Given the description of an element on the screen output the (x, y) to click on. 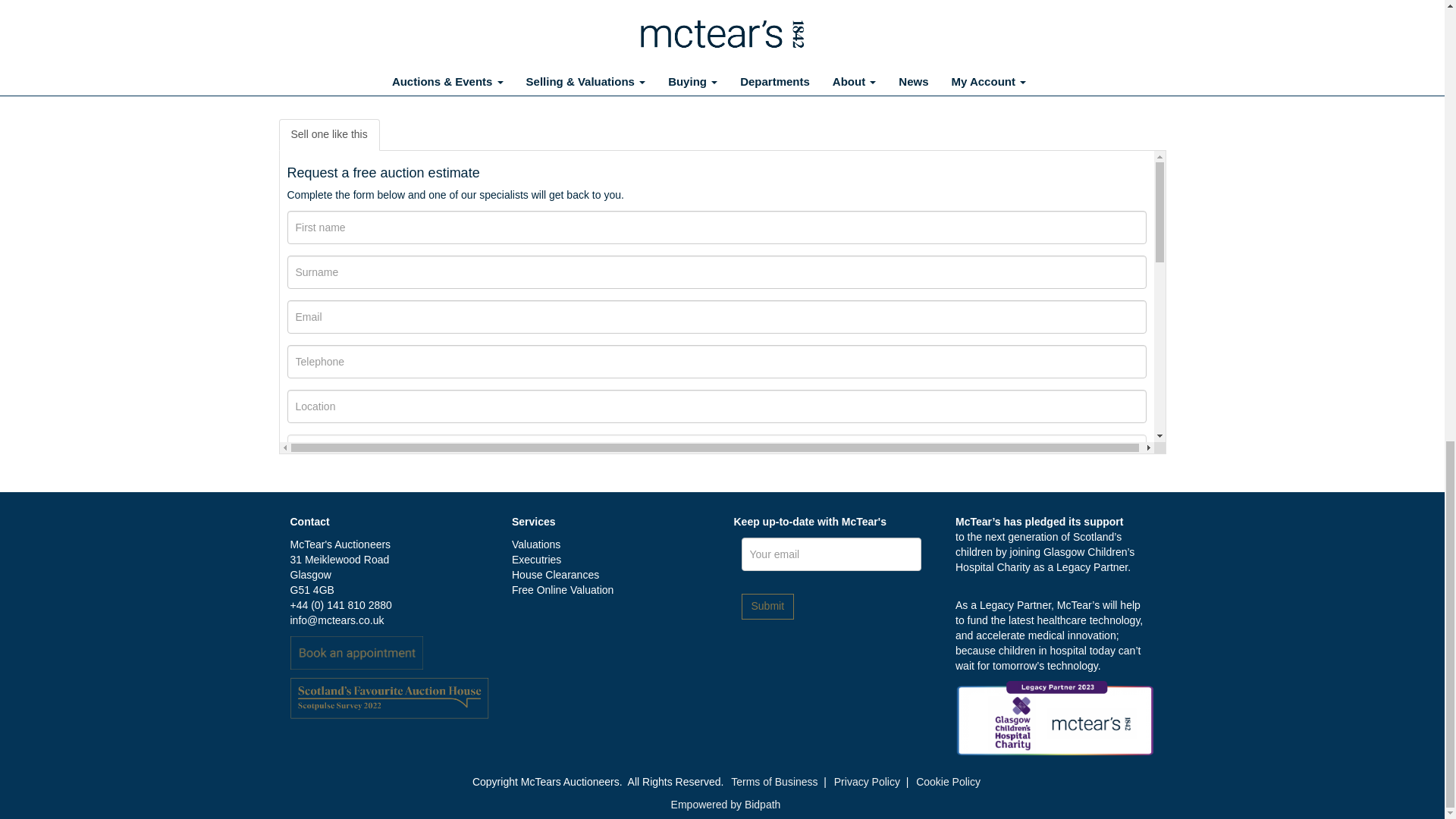
Book an appointment (355, 652)
Submit (767, 606)
